Given the description of an element on the screen output the (x, y) to click on. 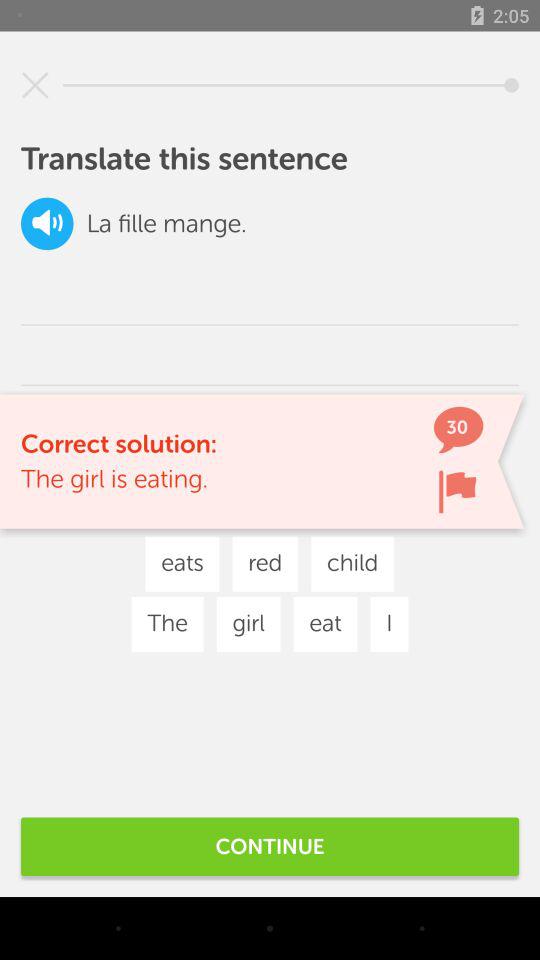
closes the window (35, 85)
